Given the description of an element on the screen output the (x, y) to click on. 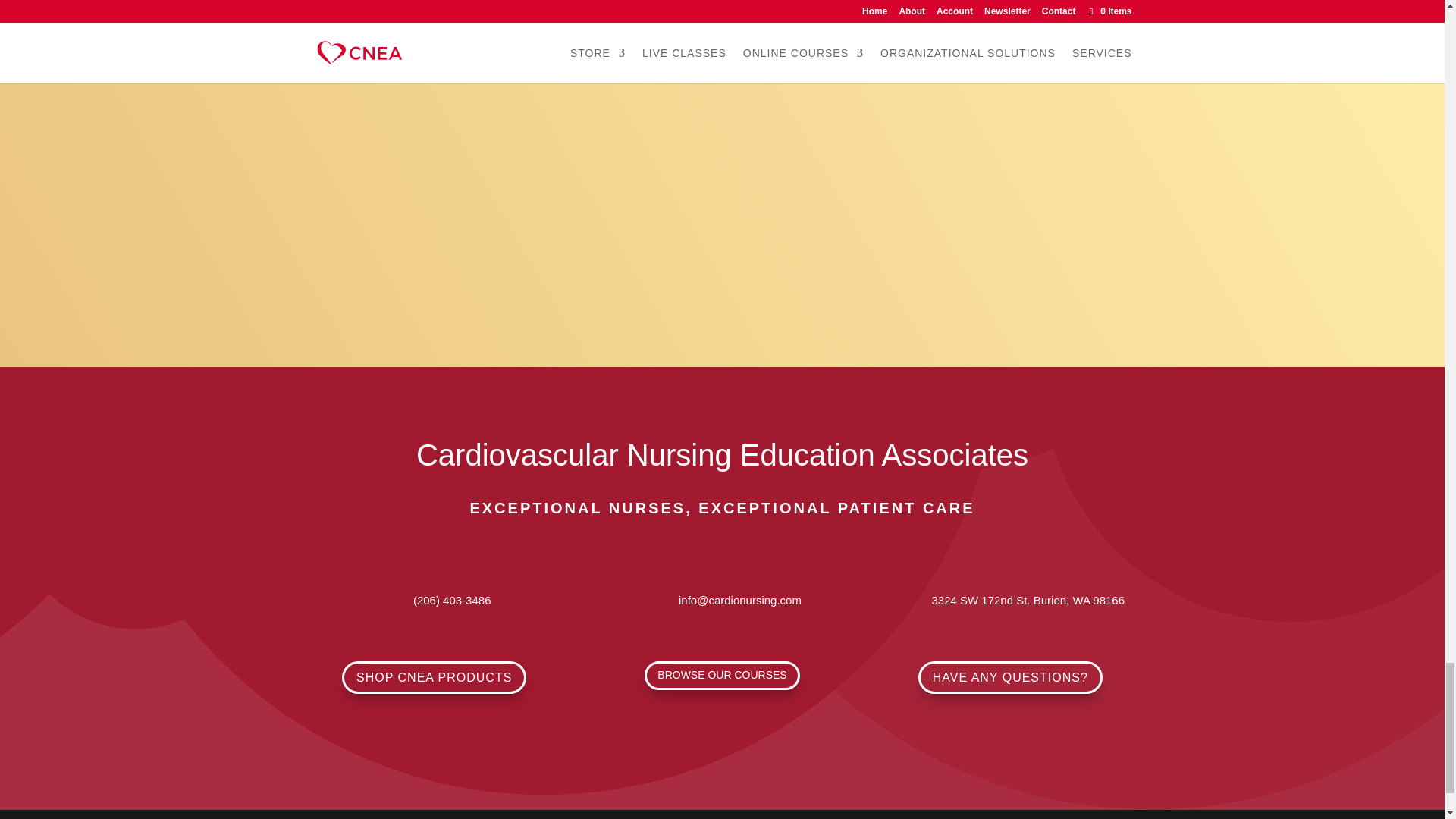
SHOP CNEA PRODUCTS (433, 676)
HAVE ANY QUESTIONS? (1010, 676)
BROWSE OUR COURSES (722, 675)
